Given the description of an element on the screen output the (x, y) to click on. 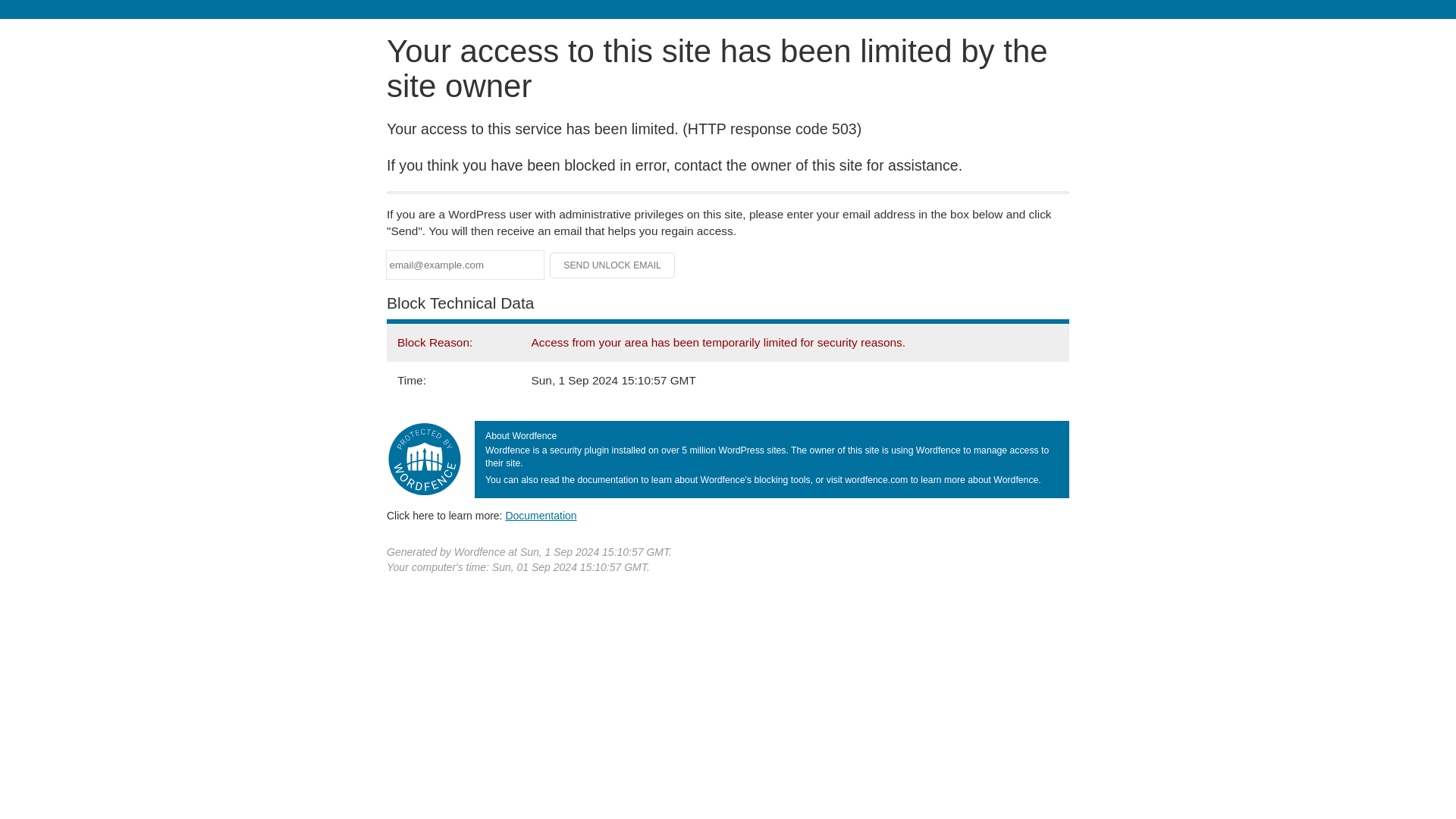
Documentation (540, 515)
Send Unlock Email (612, 265)
Send Unlock Email (612, 265)
